Given the description of an element on the screen output the (x, y) to click on. 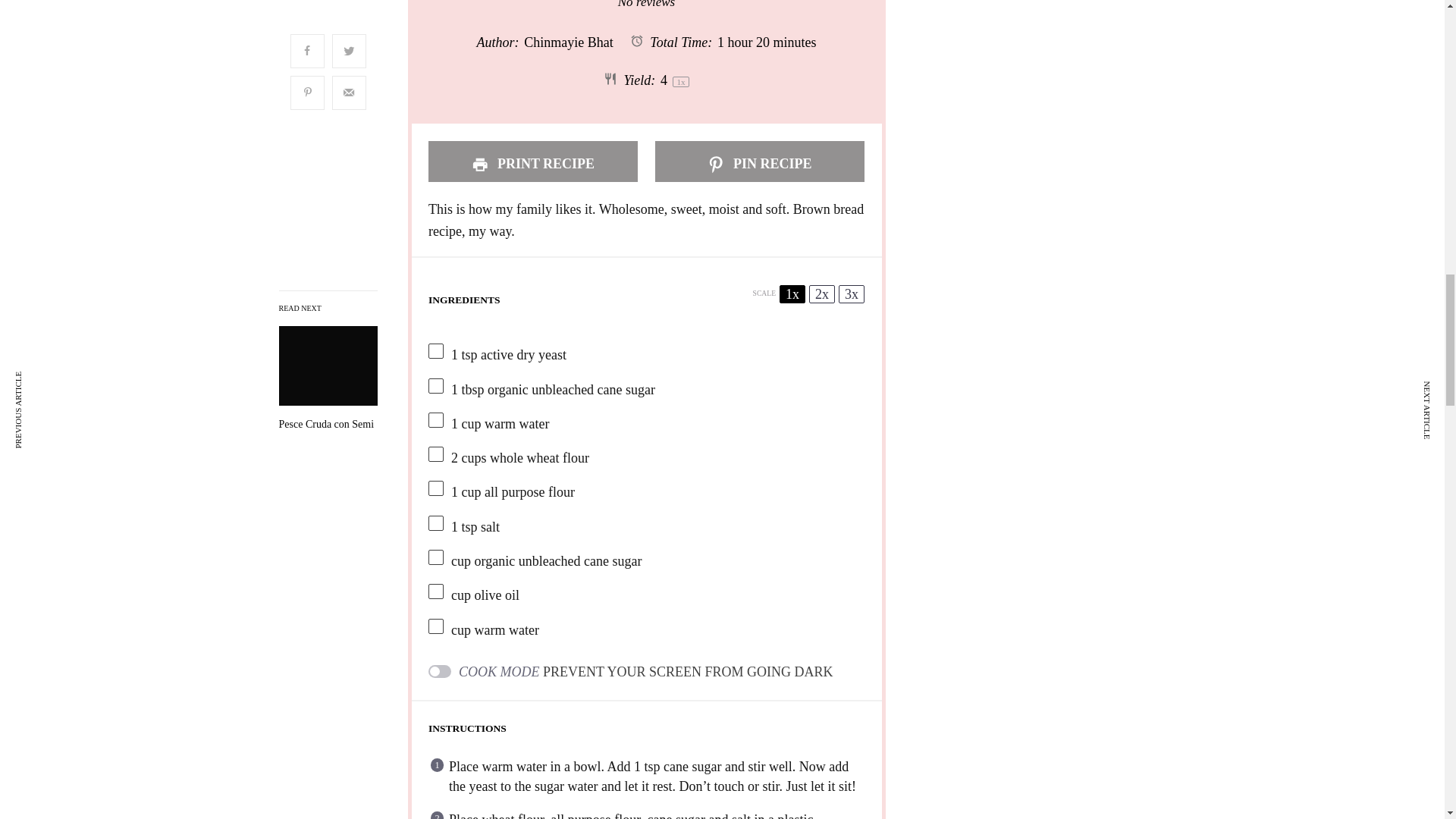
Pesce Cruda con Semi (328, 424)
PRINT RECIPE (532, 160)
My Brown Bread Recipe (328, 424)
